Given the description of an element on the screen output the (x, y) to click on. 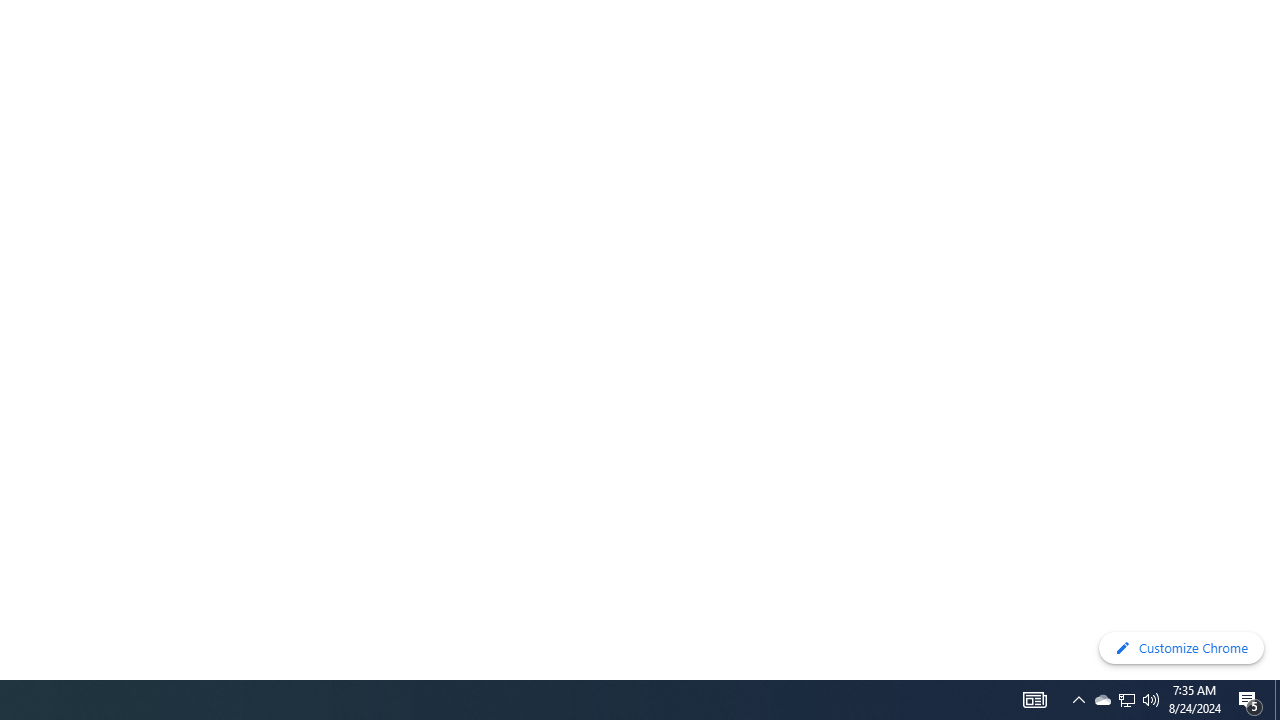
Customize Chrome (1181, 647)
